Given the description of an element on the screen output the (x, y) to click on. 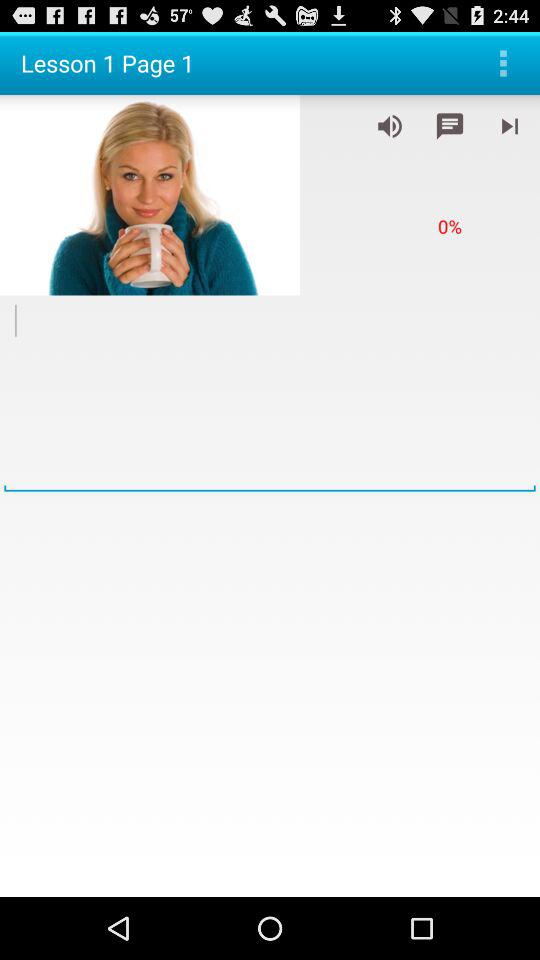
play next audio (510, 125)
